Given the description of an element on the screen output the (x, y) to click on. 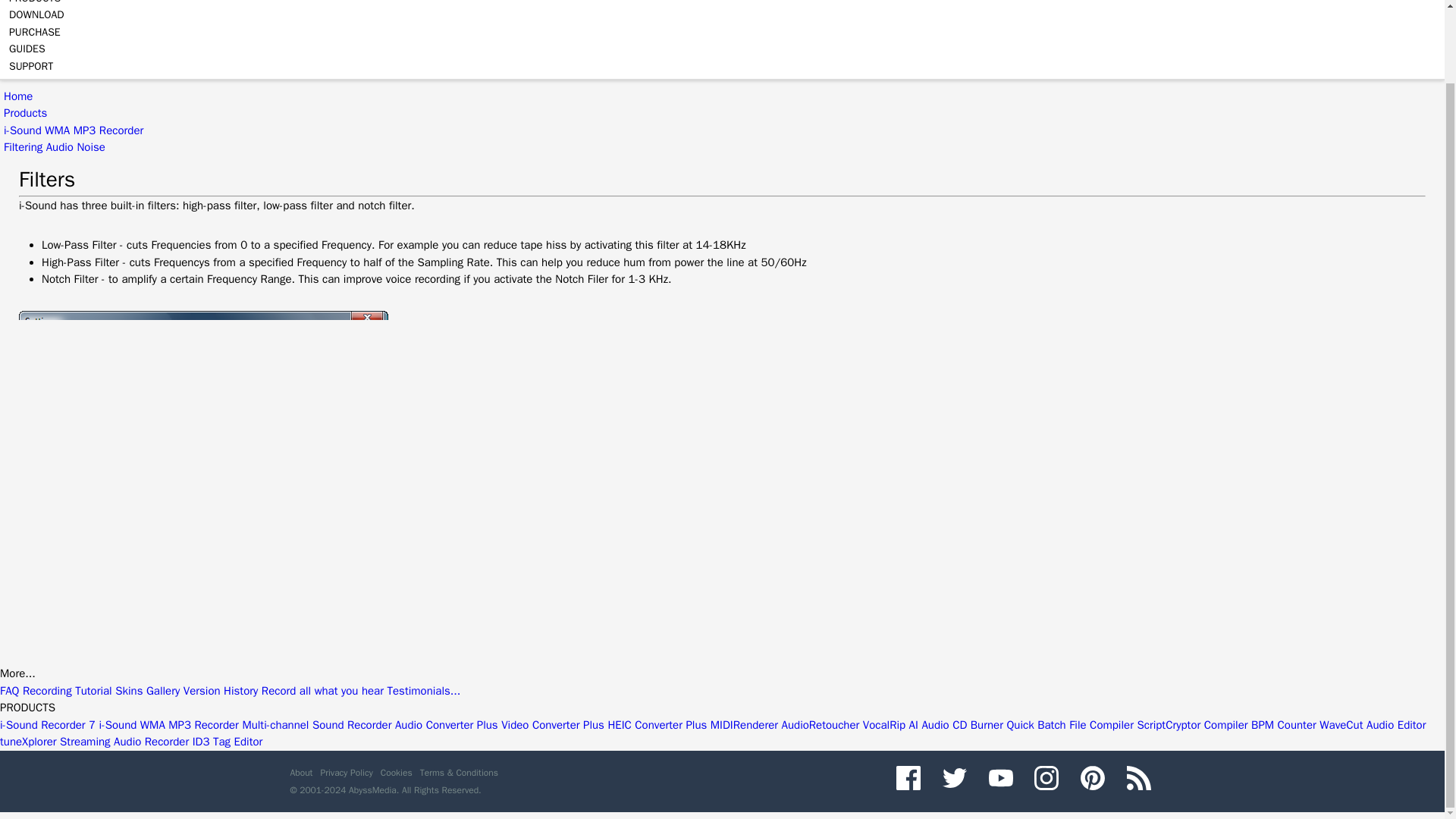
Skins Gallery (147, 689)
i-Sound WMA MP3 Recorder (73, 130)
ScriptCryptor Compiler (1192, 725)
Version History (221, 689)
tuneXplorer (28, 741)
FAQ (9, 689)
ID3 Tag Editor (227, 741)
Home (18, 95)
Filtering Audio Noise (54, 146)
Audio Converter Plus (445, 725)
